Given the description of an element on the screen output the (x, y) to click on. 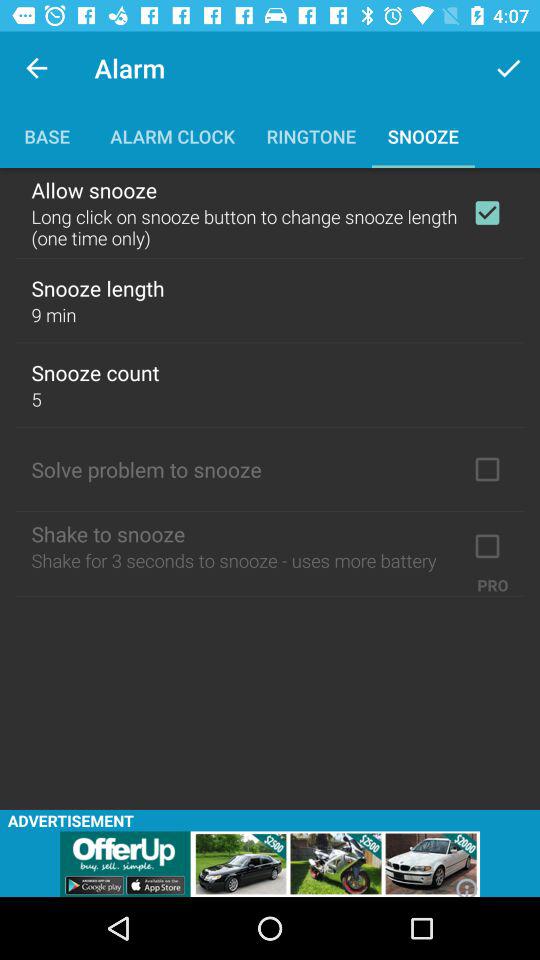
check box to turn on shake to snooze (487, 546)
